Given the description of an element on the screen output the (x, y) to click on. 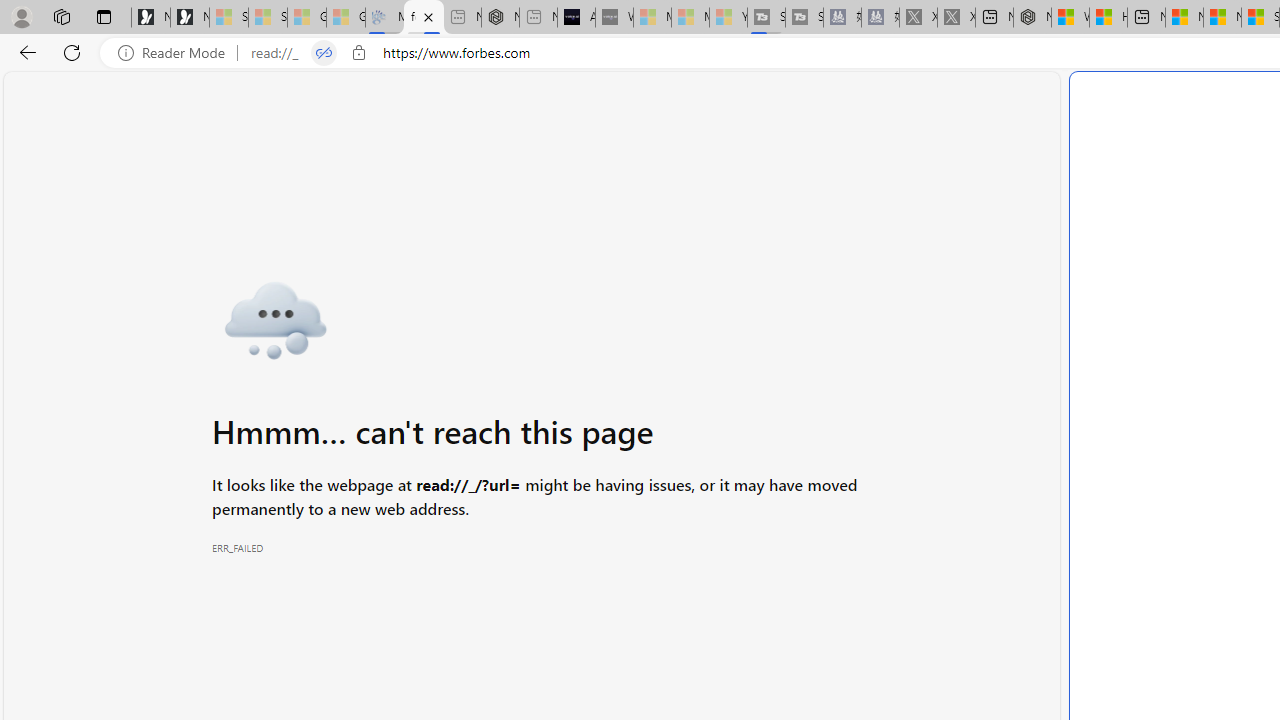
Huge shark washes ashore at New York City beach | Watch (1108, 17)
AI Voice Changer for PC and Mac - Voice.ai (576, 17)
Nordace - #1 Japanese Best-Seller - Siena Smart Backpack (500, 17)
Streaming Coverage | T3 - Sleeping (765, 17)
Tabs in split screen (323, 53)
Microsoft Start Sports - Sleeping (651, 17)
